Given the description of an element on the screen output the (x, y) to click on. 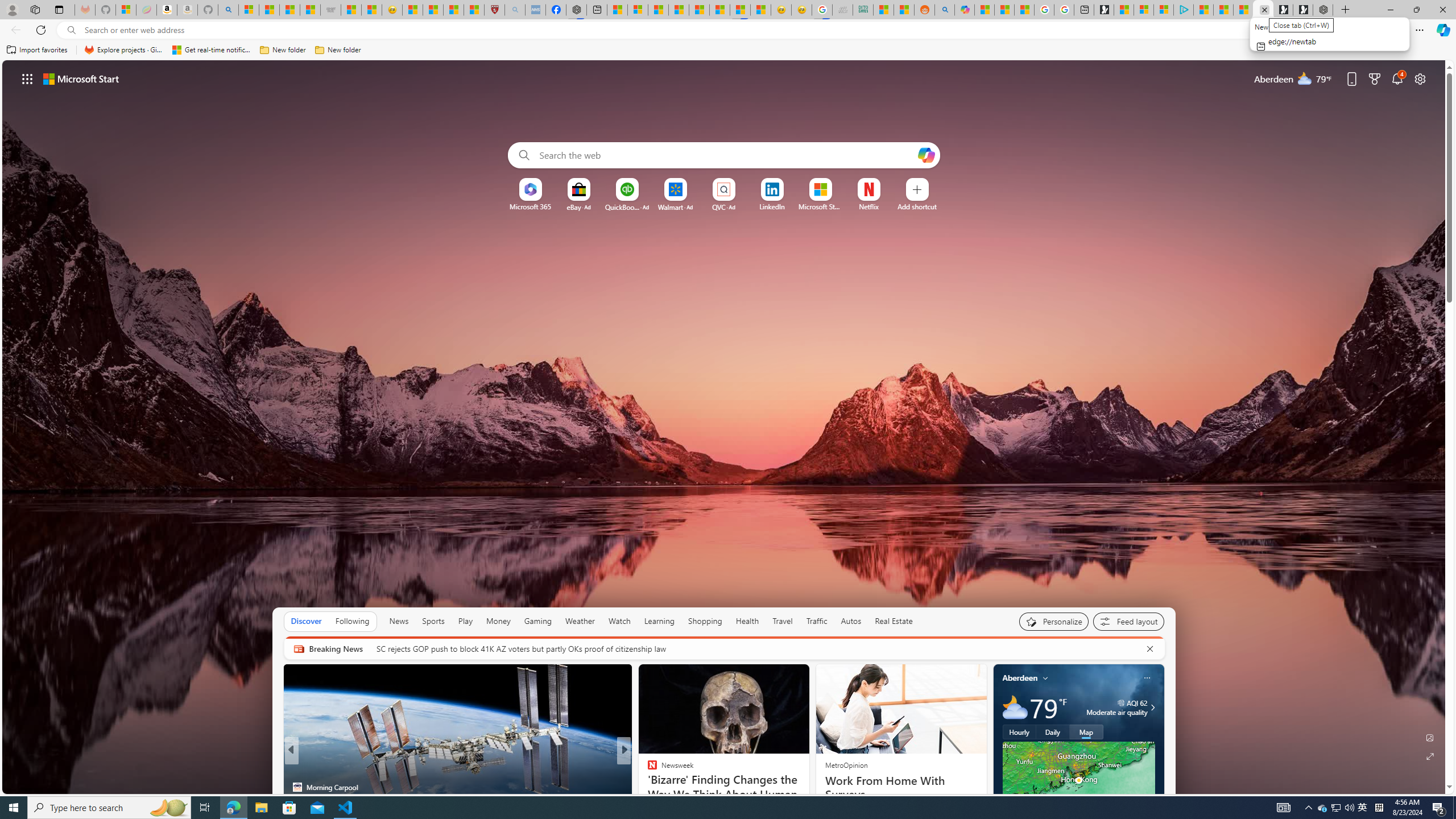
New folder (337, 49)
ETNT Mind+Body (647, 768)
Retailshout (647, 786)
Robert H. Shmerling, MD - Harvard Health (494, 9)
Map (1085, 731)
Autos (851, 621)
MetroOpinion (845, 764)
